Given the description of an element on the screen output the (x, y) to click on. 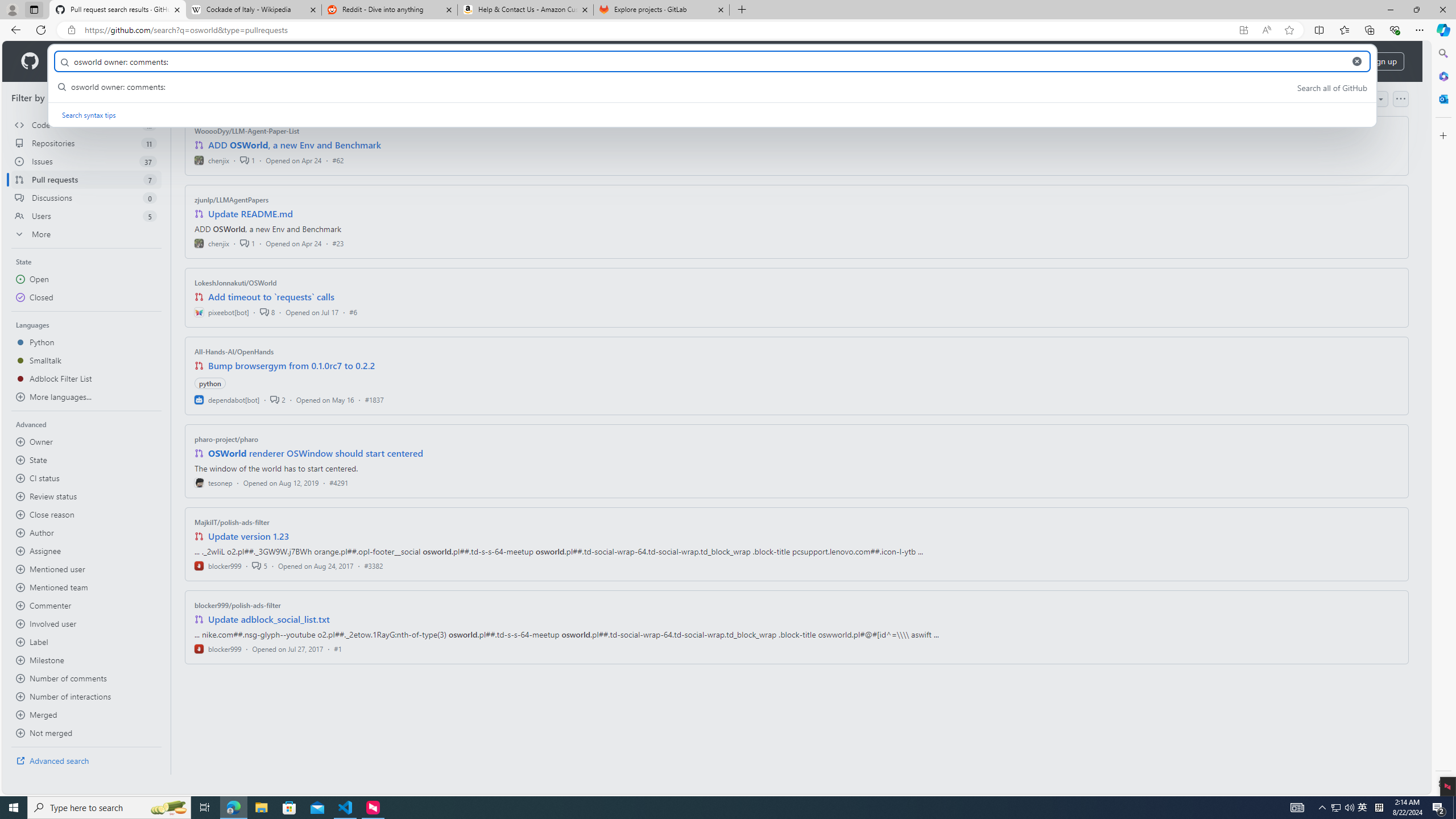
blocker999/polish-ads-filter (238, 605)
Pricing (368, 60)
WooooDyy/LLM-Agent-Paper-List (247, 130)
Enterprise (319, 60)
MajkiIT/polish-ads-filter (232, 521)
More (86, 234)
